Given the description of an element on the screen output the (x, y) to click on. 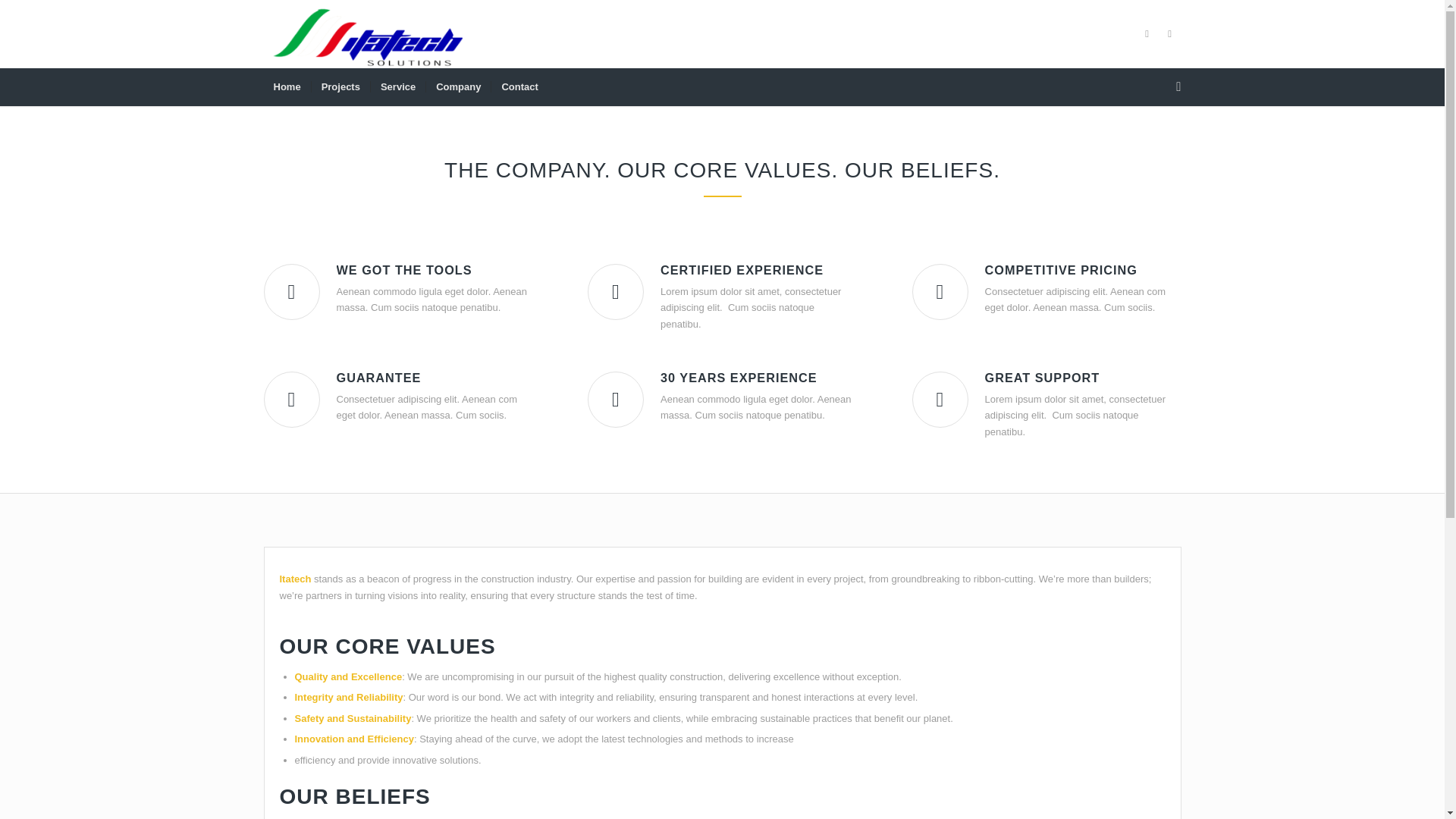
Service (397, 86)
Twitter (1146, 33)
Home (287, 86)
Contact (518, 86)
Dribbble (1169, 33)
Company (457, 86)
Projects (340, 86)
